Given the description of an element on the screen output the (x, y) to click on. 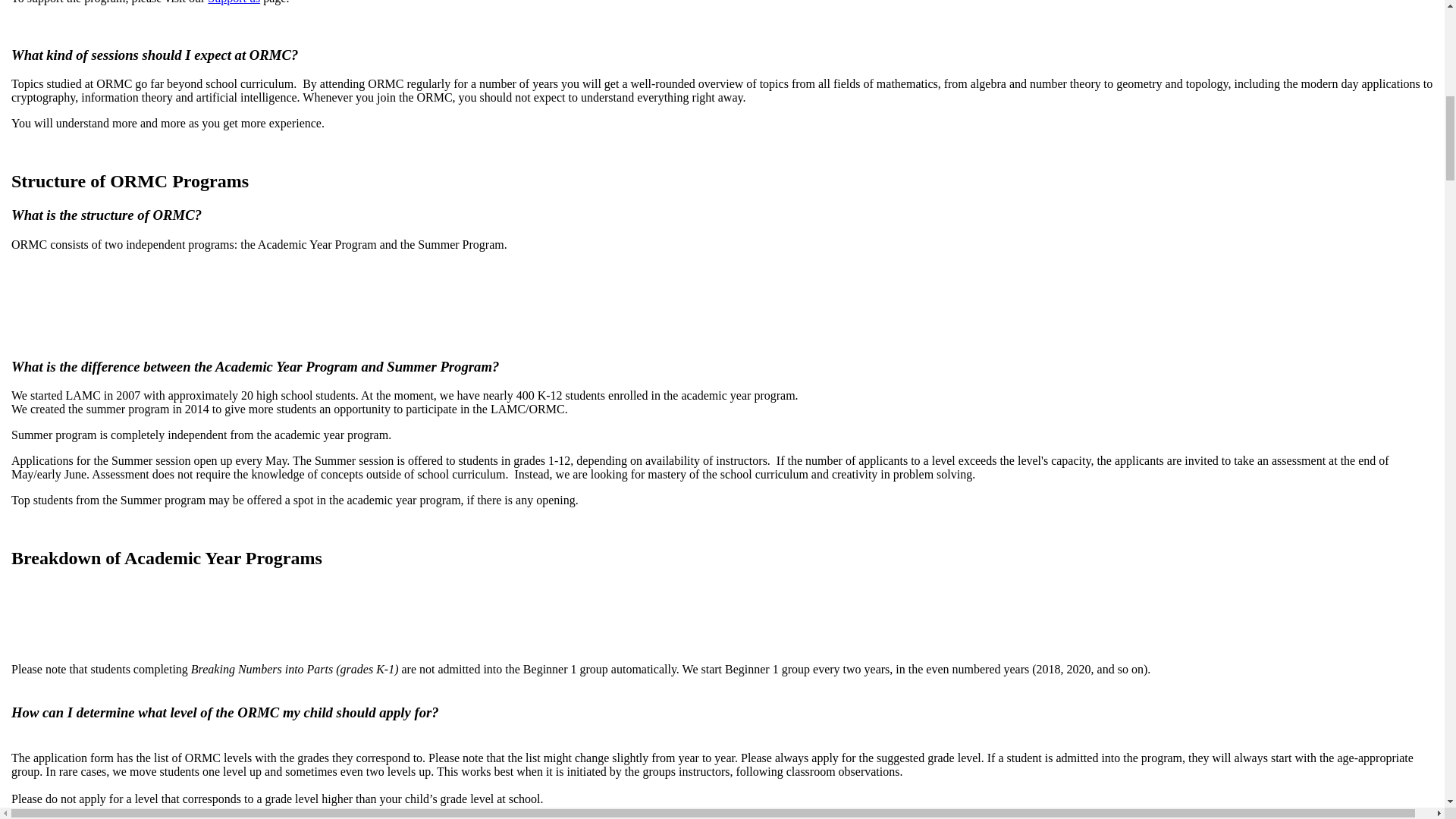
Support us (234, 2)
